Given the description of an element on the screen output the (x, y) to click on. 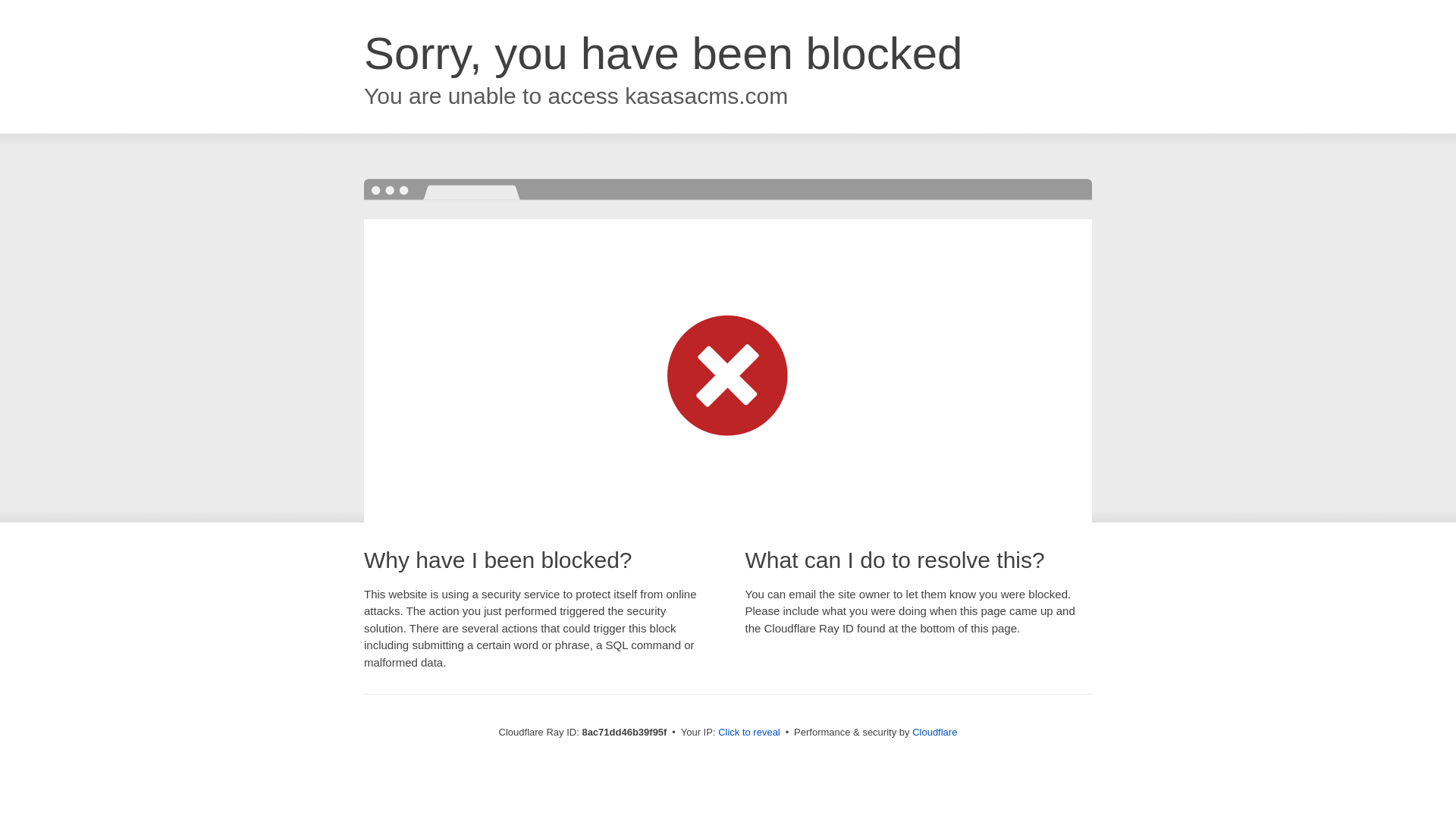
Cloudflare (934, 731)
Click to reveal (748, 732)
